Given the description of an element on the screen output the (x, y) to click on. 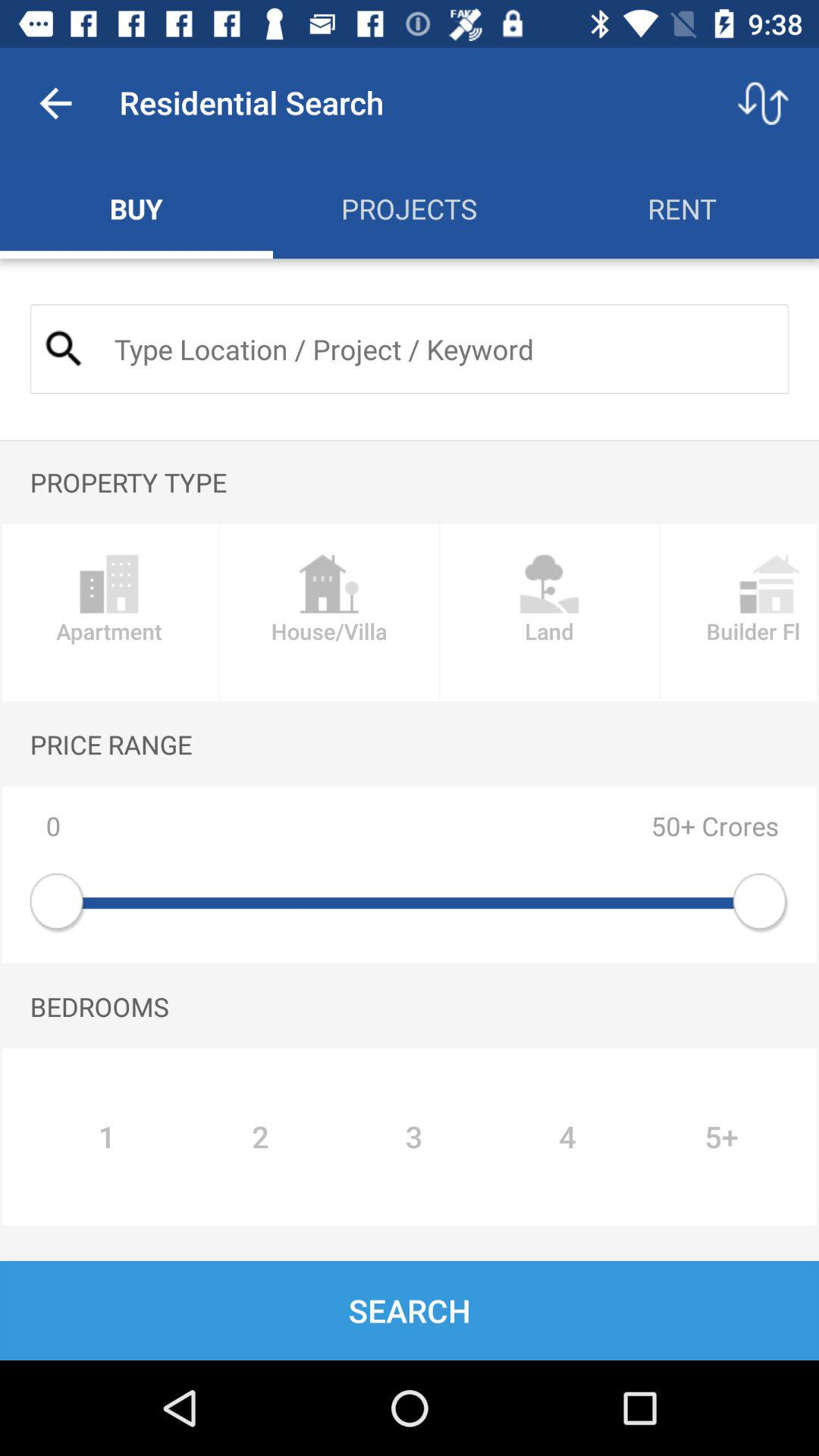
turn off icon above the 50+ crores (549, 612)
